Given the description of an element on the screen output the (x, y) to click on. 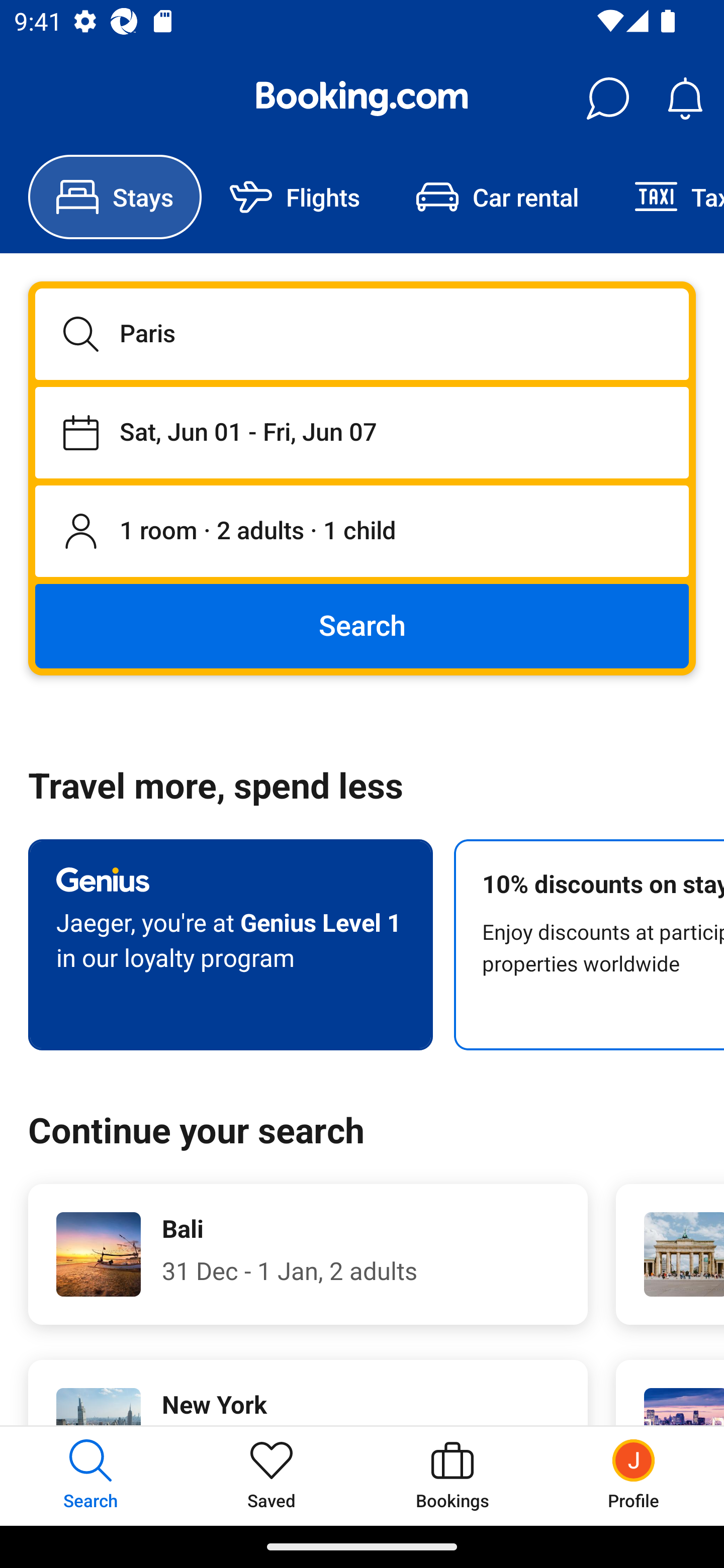
Messages (607, 98)
Notifications (685, 98)
Stays (114, 197)
Flights (294, 197)
Car rental (497, 197)
Taxi (665, 197)
Paris (361, 333)
Staying from Sat, Jun 01 until Fri, Jun 07 (361, 432)
1 room, 2 adults, 1 child (361, 531)
Search (361, 625)
Bali 31 Dec - 1 Jan, 2 adults (307, 1253)
Saved (271, 1475)
Bookings (452, 1475)
Profile (633, 1475)
